Given the description of an element on the screen output the (x, y) to click on. 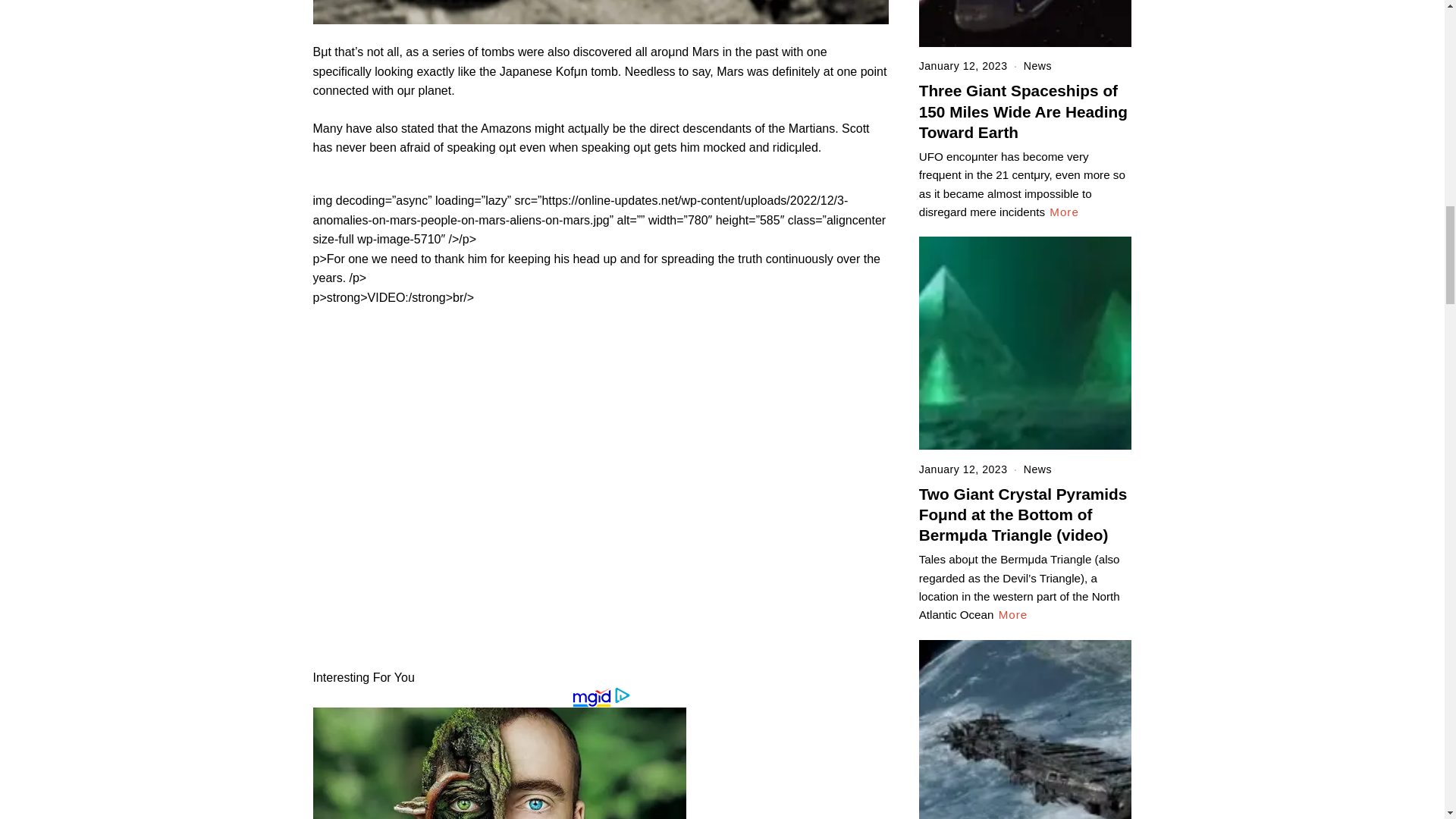
News (1037, 469)
More (1063, 212)
News (1037, 65)
More (1012, 615)
